Given the description of an element on the screen output the (x, y) to click on. 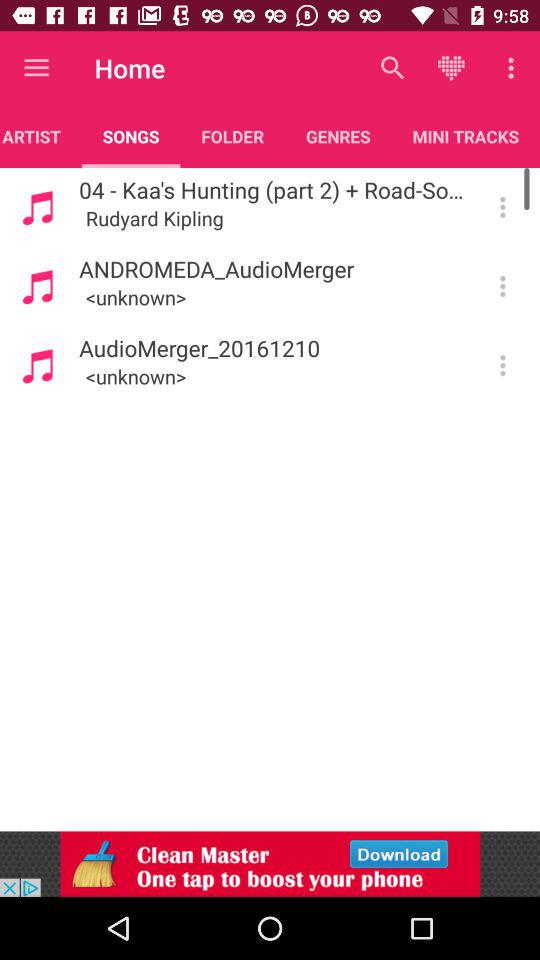
click on advertisement (270, 864)
